Given the description of an element on the screen output the (x, y) to click on. 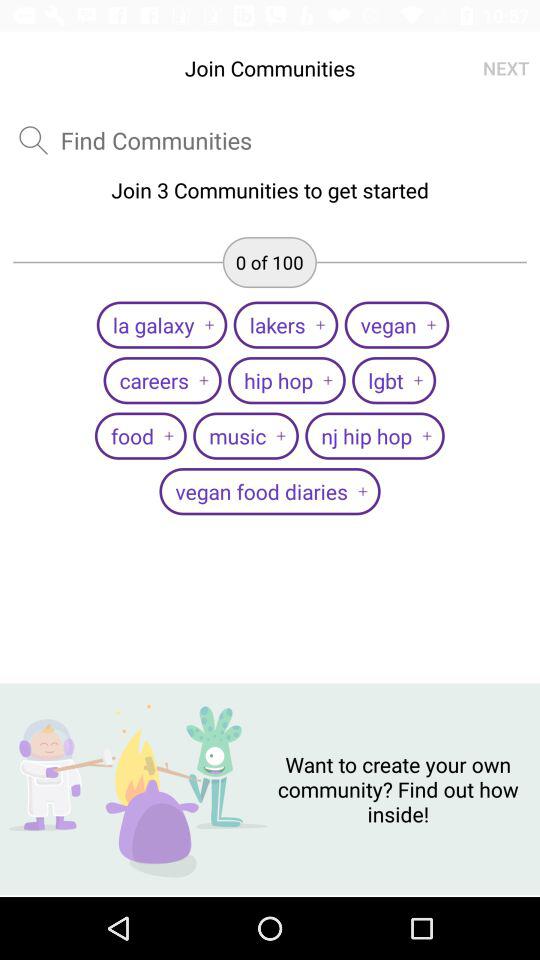
jump to the next icon (506, 67)
